Given the description of an element on the screen output the (x, y) to click on. 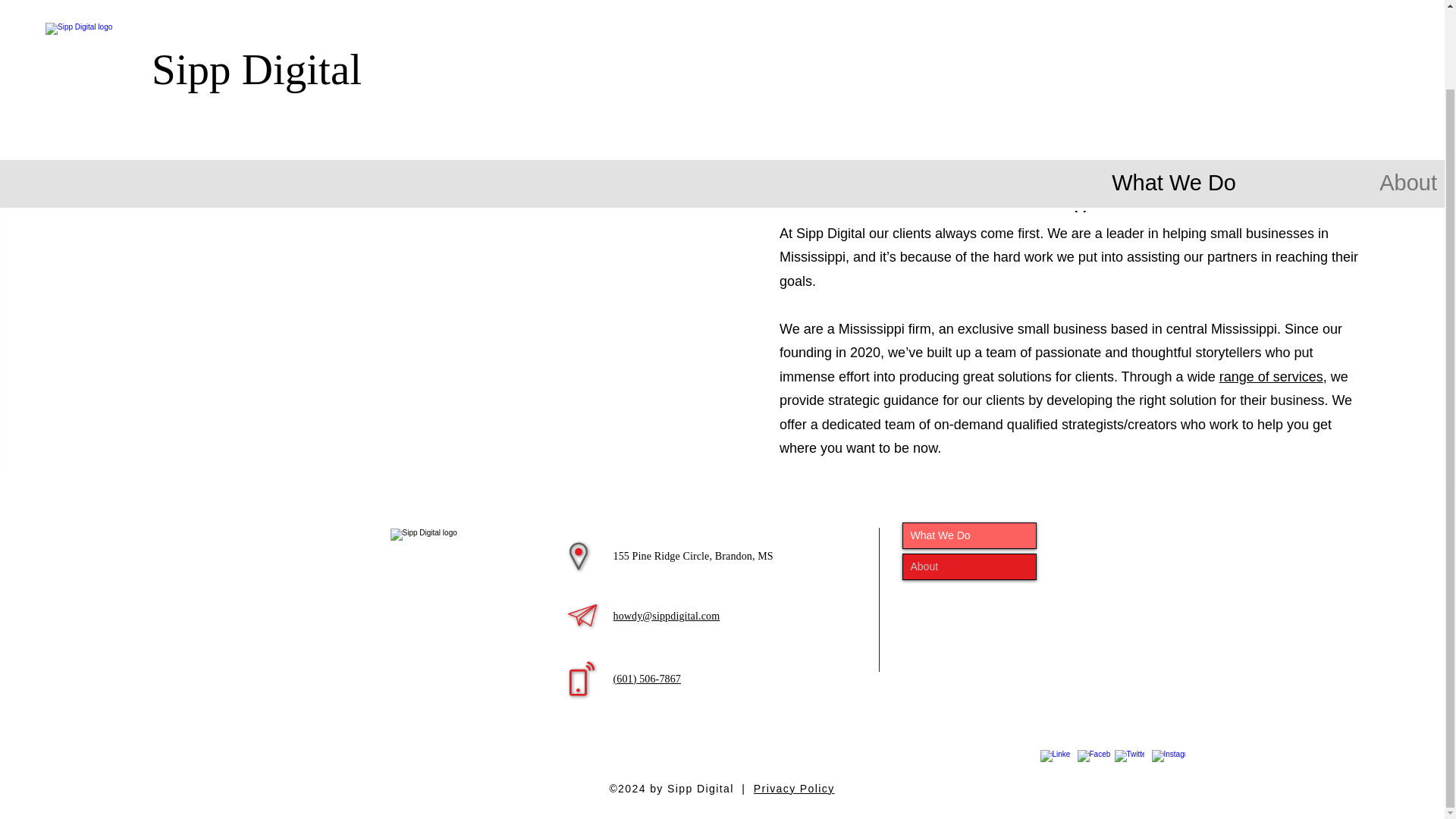
About (968, 566)
What We Do (1109, 86)
range of services (1271, 376)
What We Do (968, 534)
Privacy Policy (794, 787)
